Given the description of an element on the screen output the (x, y) to click on. 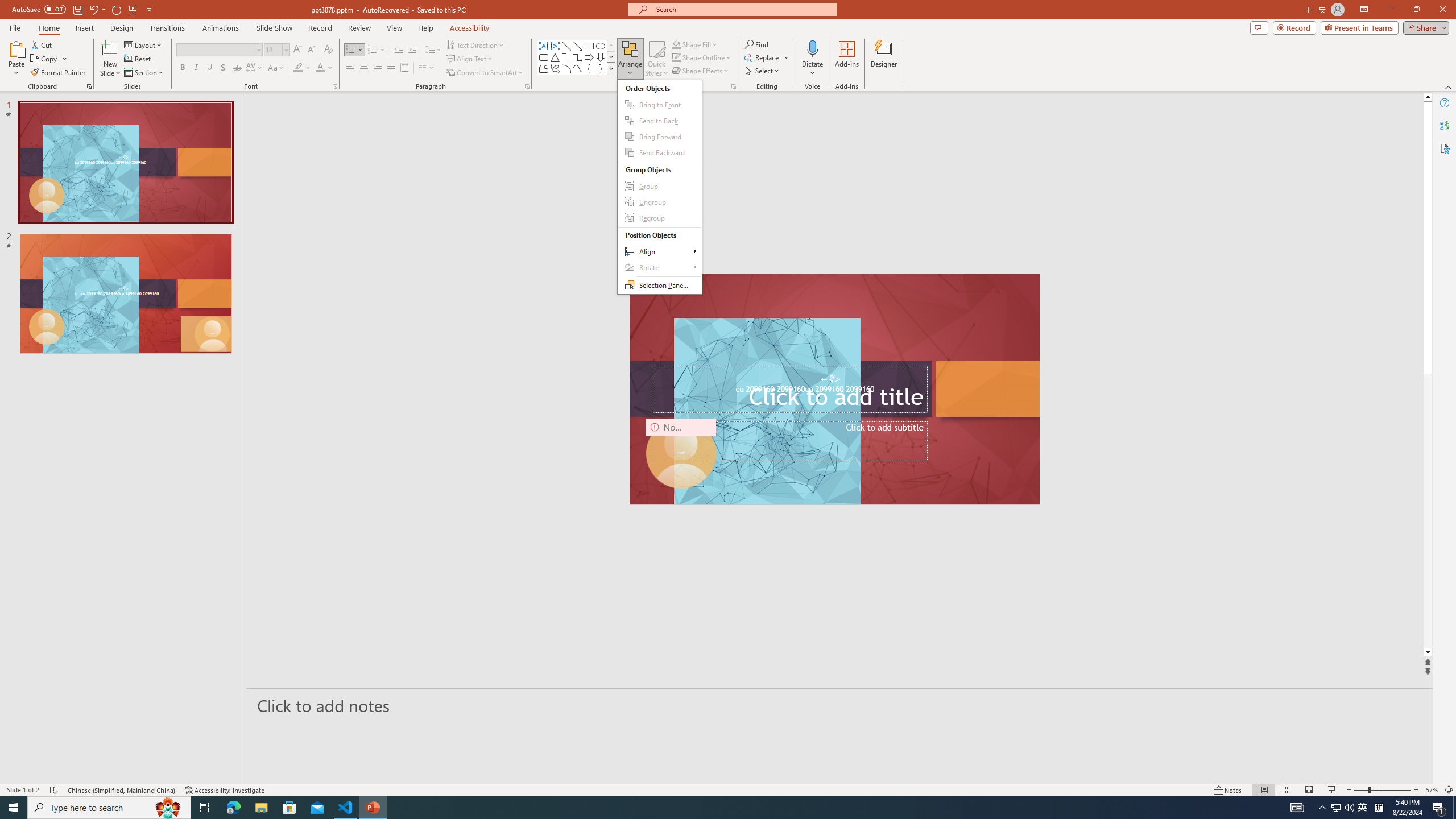
PowerPoint - 1 running window (373, 807)
Align Right (377, 67)
Align Text (470, 58)
Format Painter (58, 72)
Paragraph... (526, 85)
Slide Notes (839, 705)
Arc (566, 68)
Increase Font Size (297, 49)
Shape Outline (701, 56)
